Given the description of an element on the screen output the (x, y) to click on. 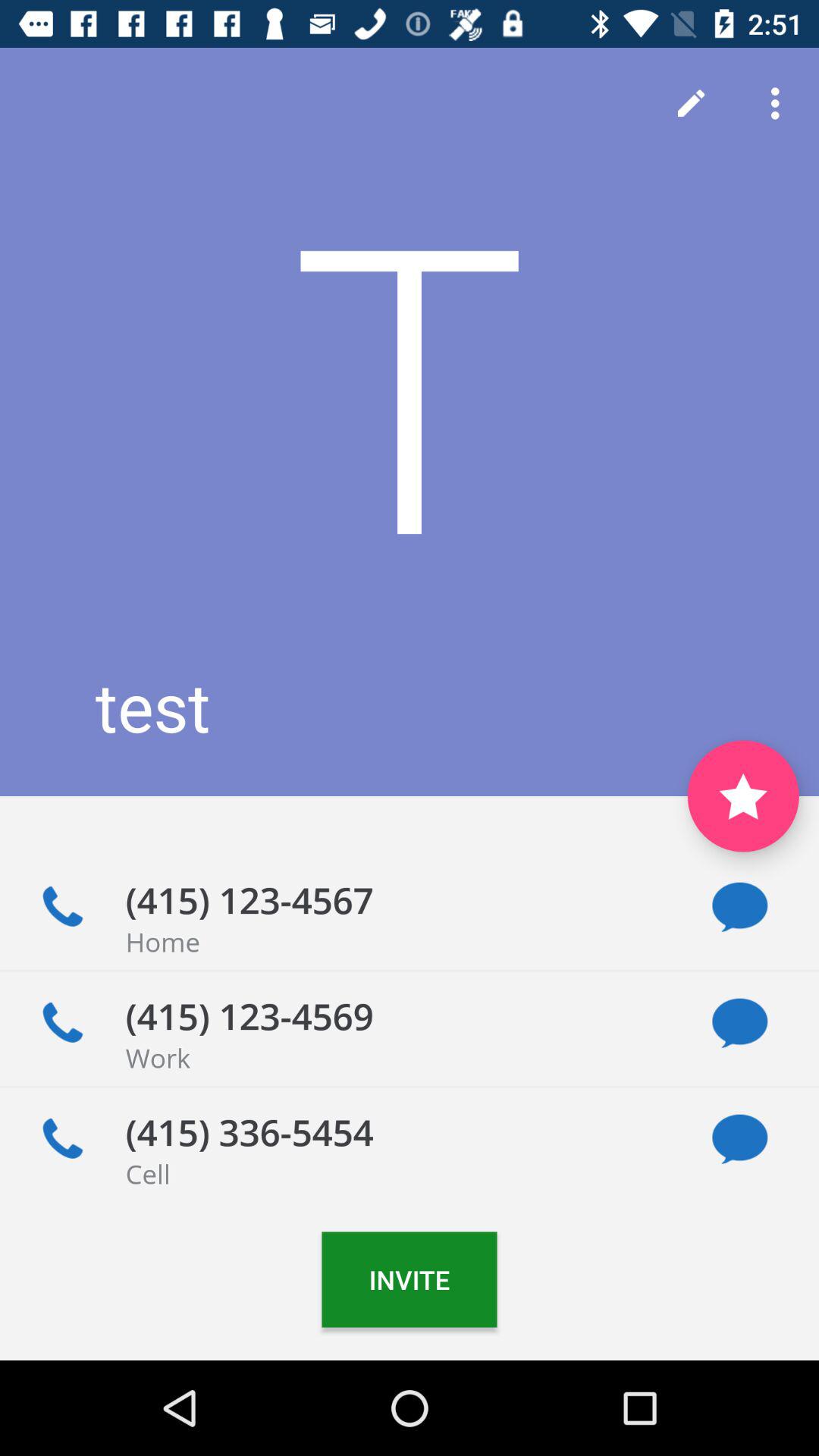
make a call (62, 1139)
